Given the description of an element on the screen output the (x, y) to click on. 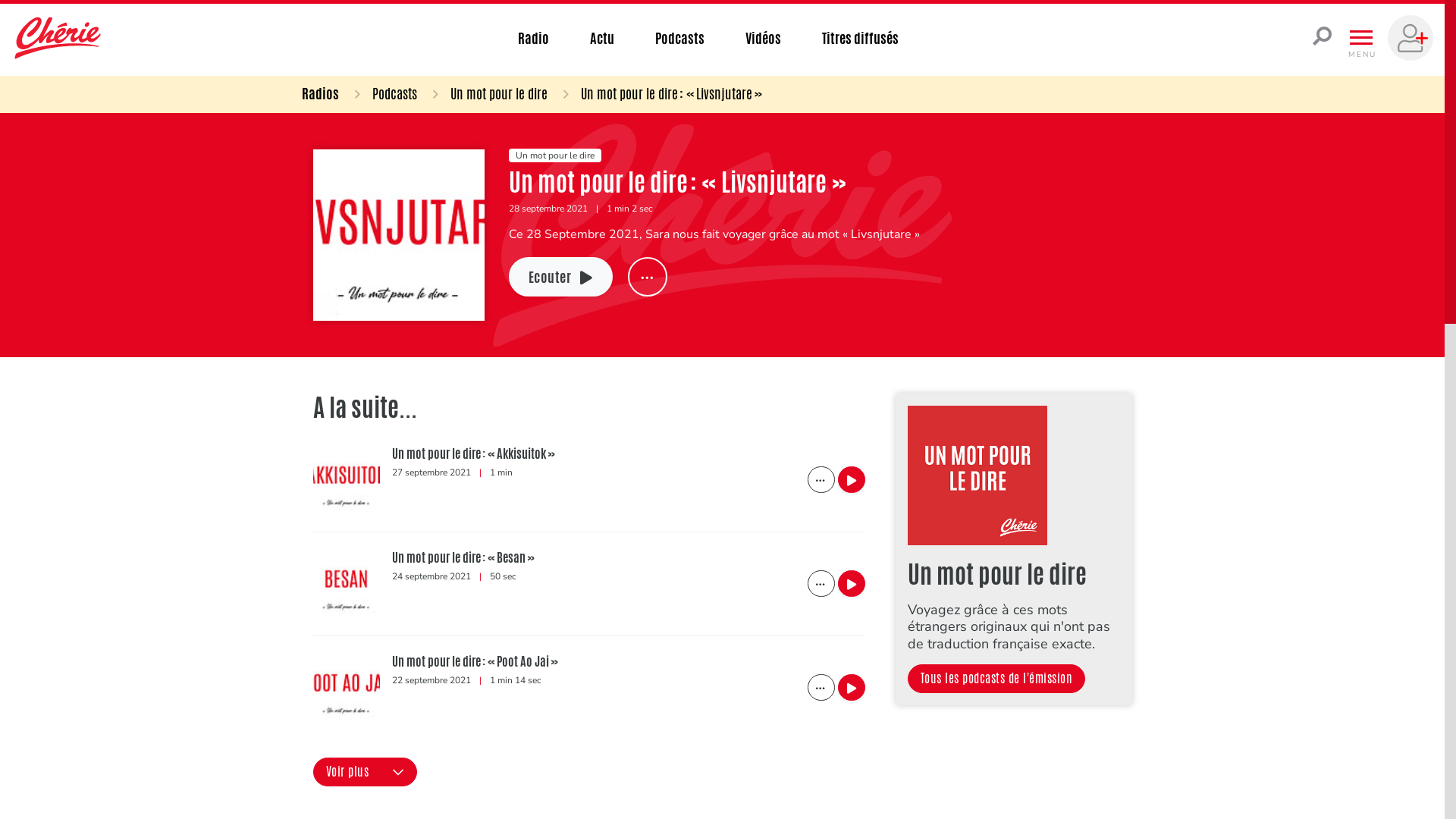
Podcasts Element type: text (679, 37)
Radios Element type: text (319, 93)
Podcasts Element type: text (379, 93)
Voir plus Element type: text (364, 771)
Ecouter Element type: text (559, 277)
Radio Element type: text (533, 37)
Un mot pour le dire Element type: text (483, 93)
Actu Element type: text (601, 37)
